Given the description of an element on the screen output the (x, y) to click on. 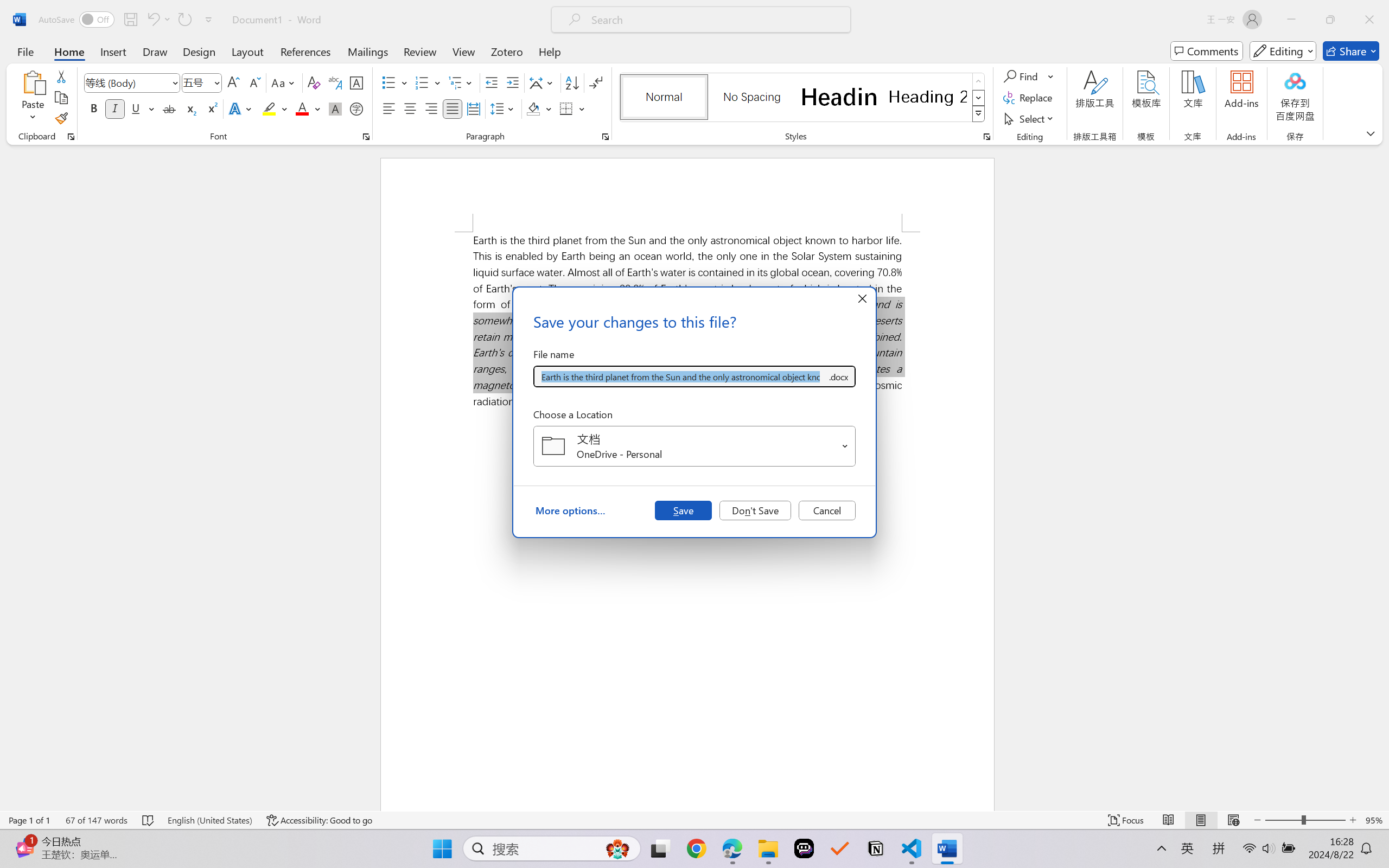
Align Right (431, 108)
Row up (978, 81)
Repeat Italic (184, 19)
Help (549, 51)
Italic (115, 108)
File name (680, 376)
